Given the description of an element on the screen output the (x, y) to click on. 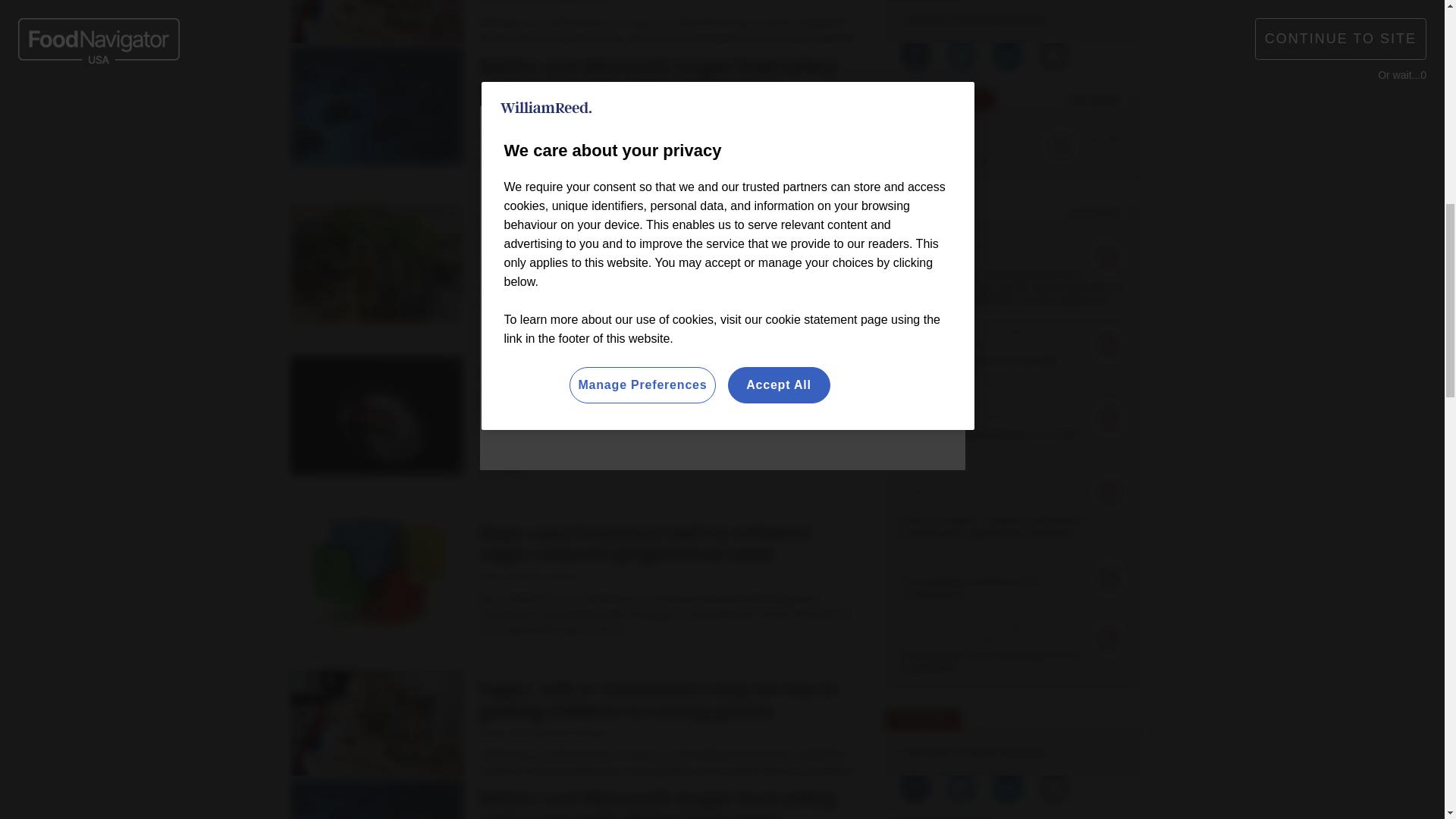
3rd party ad content (570, 792)
